Given the description of an element on the screen output the (x, y) to click on. 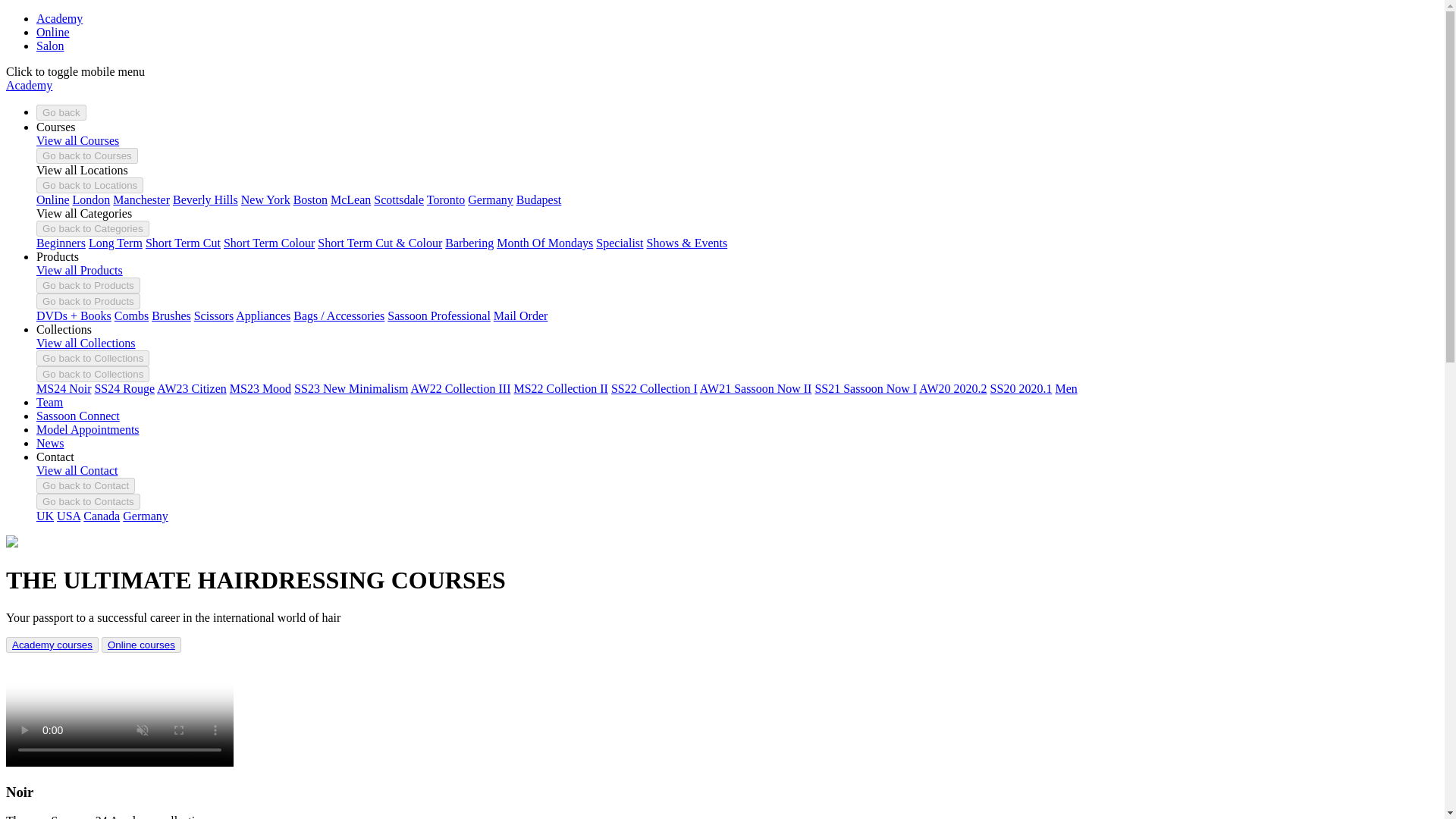
Budapest (539, 199)
Toronto (445, 199)
Month Of Mondays (544, 242)
Sassoon Professional (438, 315)
View all Products (79, 269)
Scissors (212, 315)
Salon (50, 45)
McLean (350, 199)
Boston (310, 199)
Academy (59, 18)
Go back (60, 112)
Specialist (619, 242)
Go back to Products (87, 301)
Go back to Courses (87, 155)
Go back to Products (87, 285)
